Given the description of an element on the screen output the (x, y) to click on. 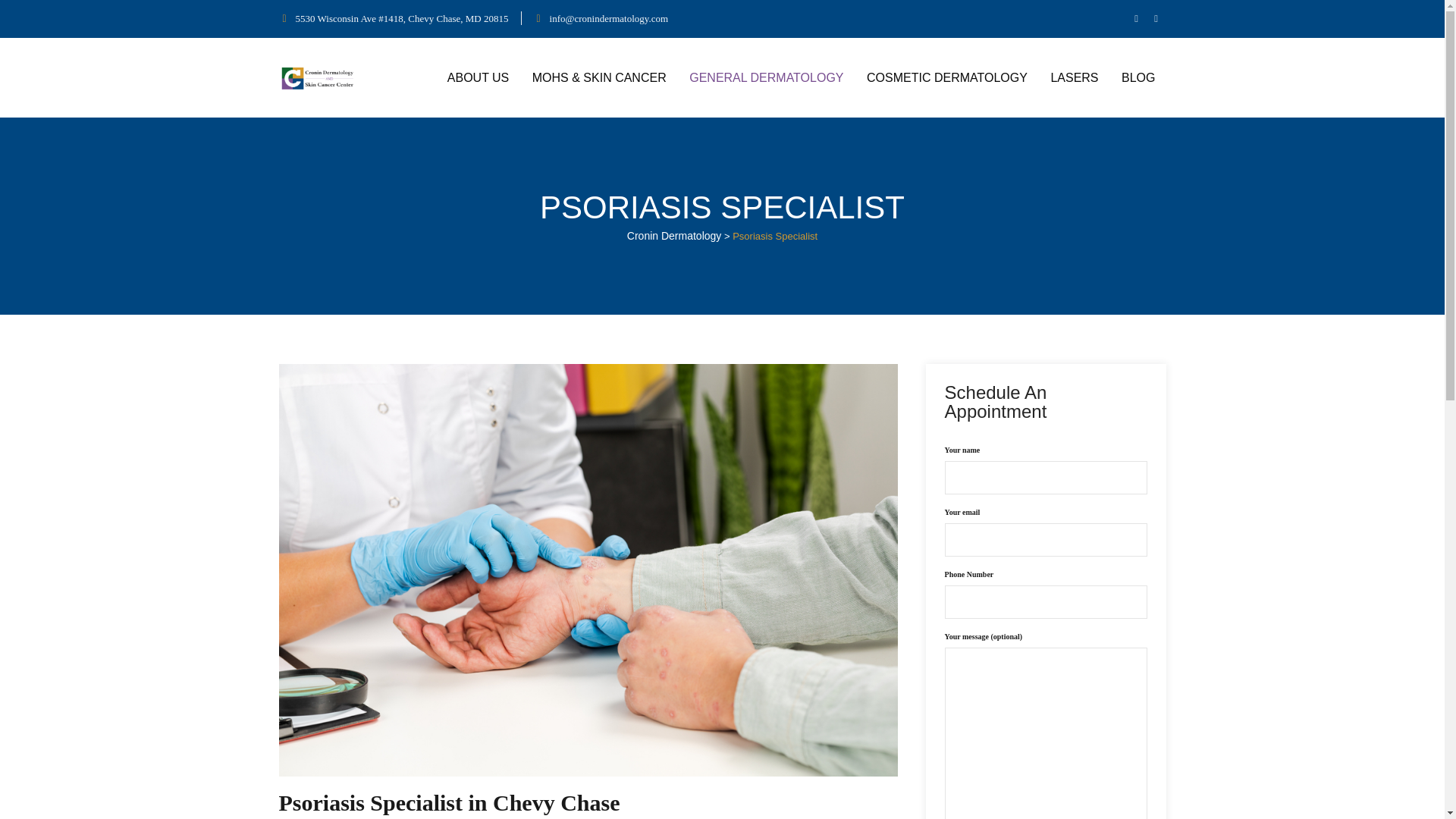
COSMETIC DERMATOLOGY (947, 77)
GENERAL DERMATOLOGY (765, 77)
ABOUT US (477, 77)
Cronin Dermatology (318, 77)
Go to Cronin Dermatology. (674, 234)
